Given the description of an element on the screen output the (x, y) to click on. 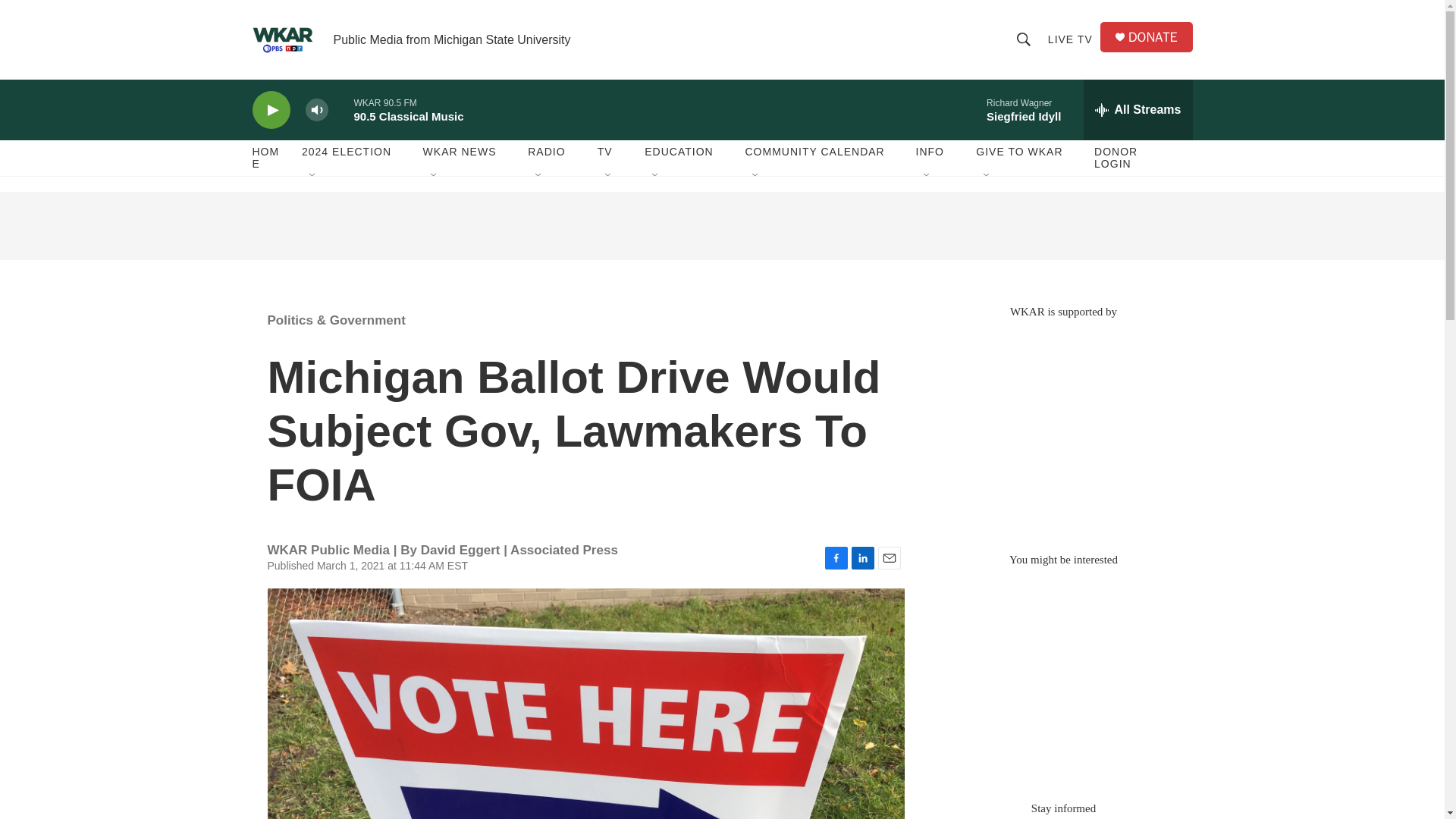
3rd party ad content (1062, 428)
3rd party ad content (1062, 677)
3rd party ad content (721, 225)
